Given the description of an element on the screen output the (x, y) to click on. 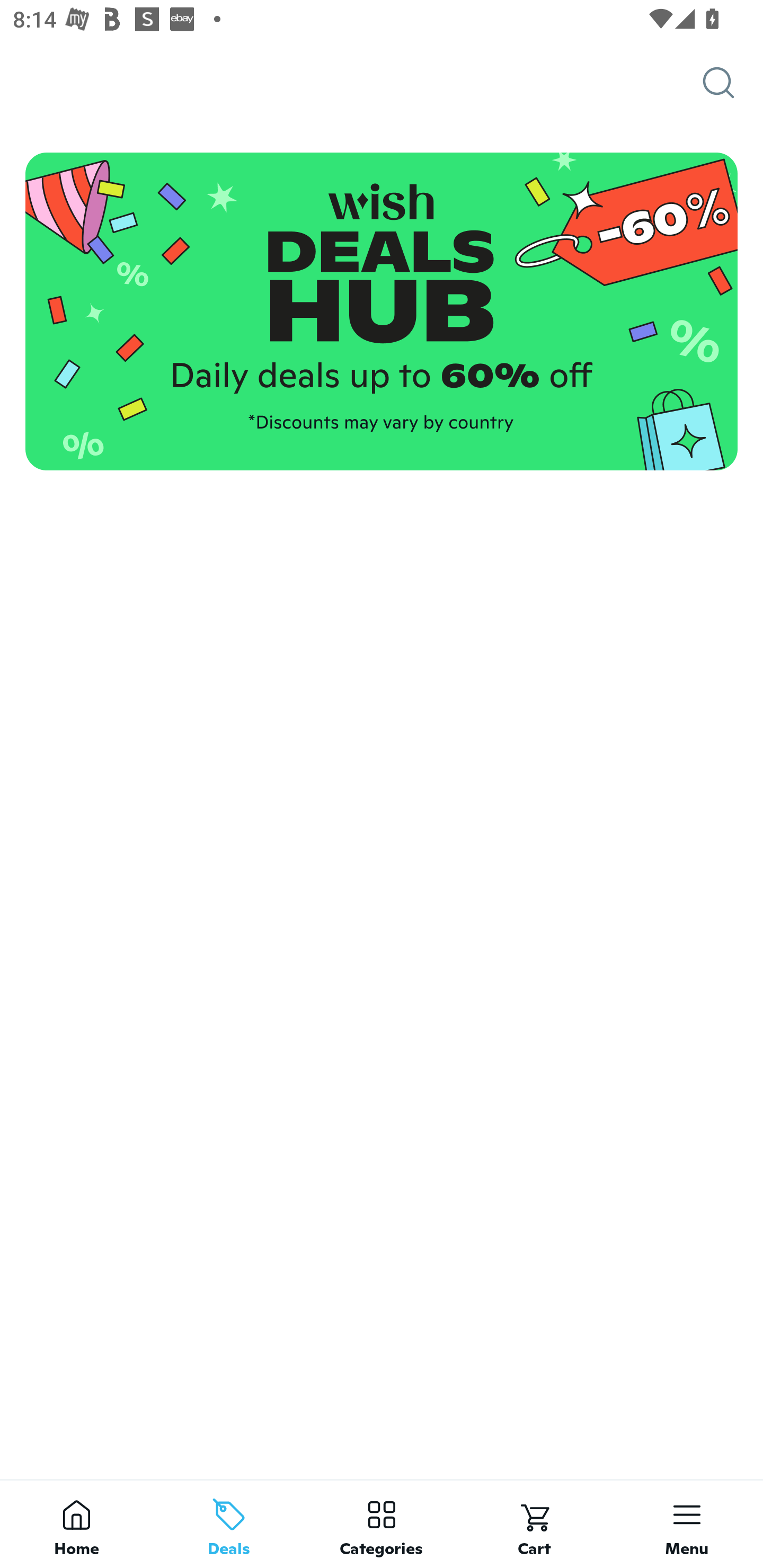
Search (732, 82)
Home (76, 1523)
Deals (228, 1523)
Categories (381, 1523)
Cart (533, 1523)
Menu (686, 1523)
